Given the description of an element on the screen output the (x, y) to click on. 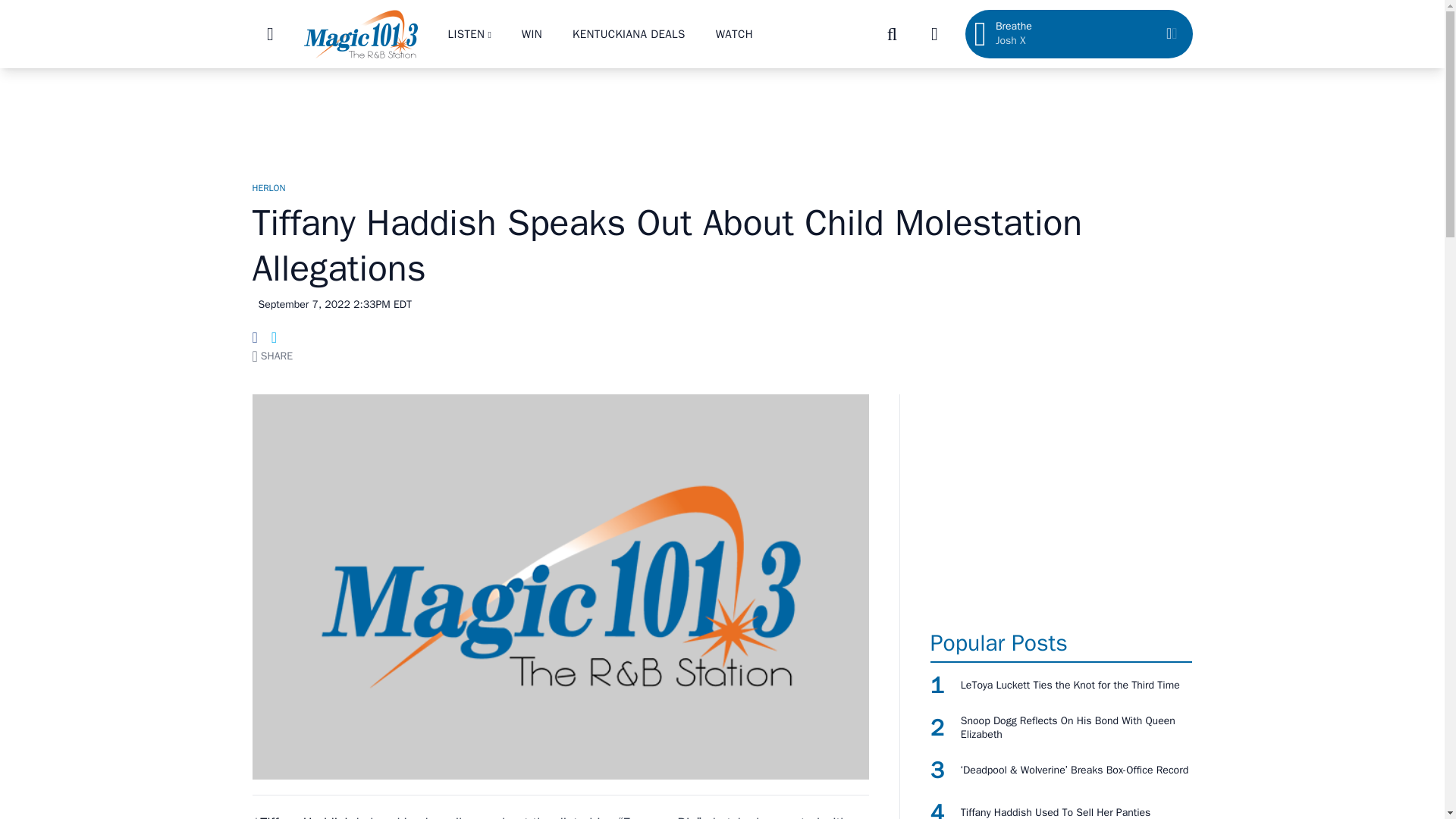
3rd party ad content (1060, 503)
Magic 101.3 (359, 33)
3rd party ad content (721, 117)
